Given the description of an element on the screen output the (x, y) to click on. 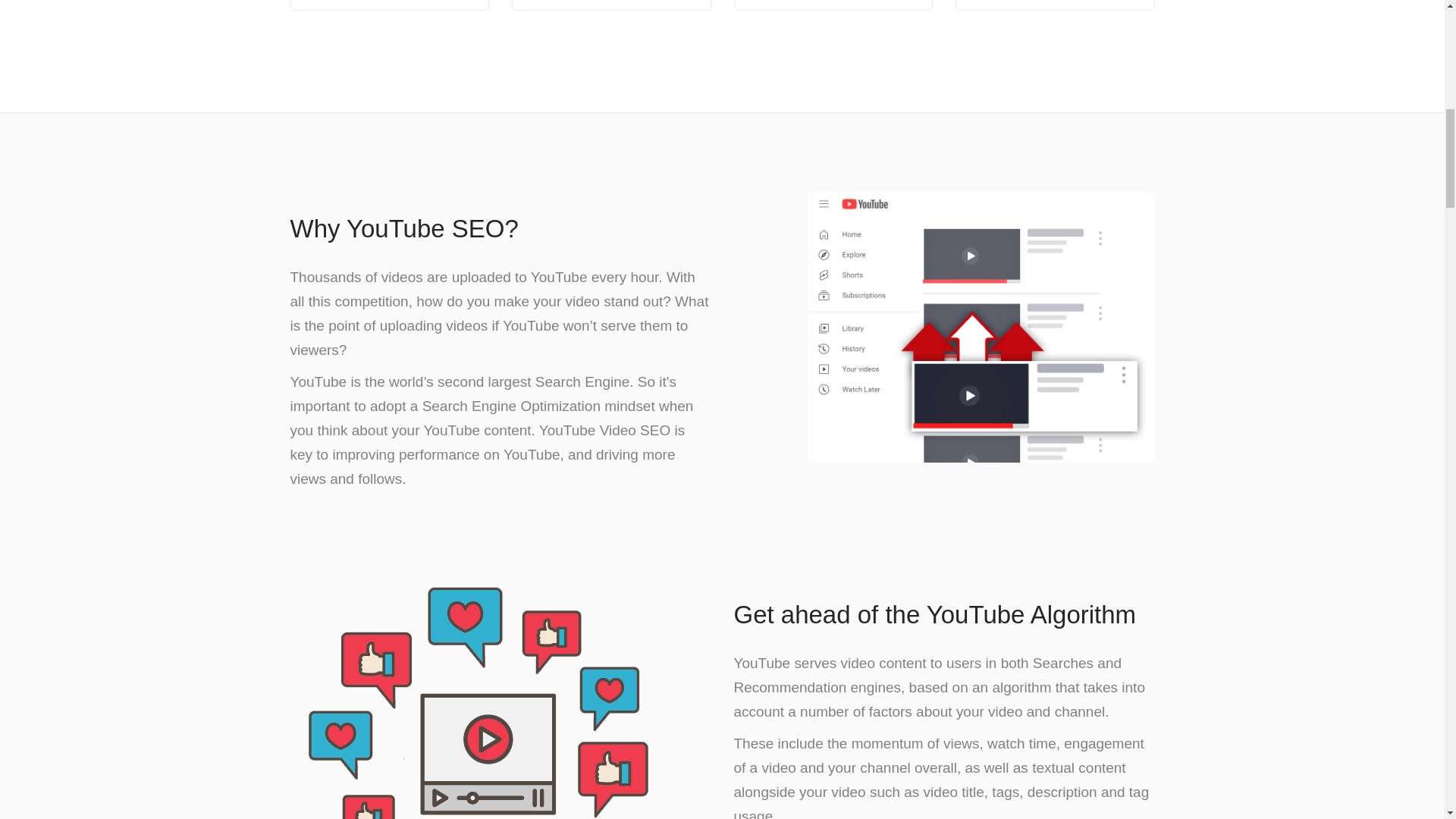
Tag Extractor (389, 5)
Title Generator (833, 5)
Description Generator (1054, 5)
Hashtag Generator (611, 5)
